Given the description of an element on the screen output the (x, y) to click on. 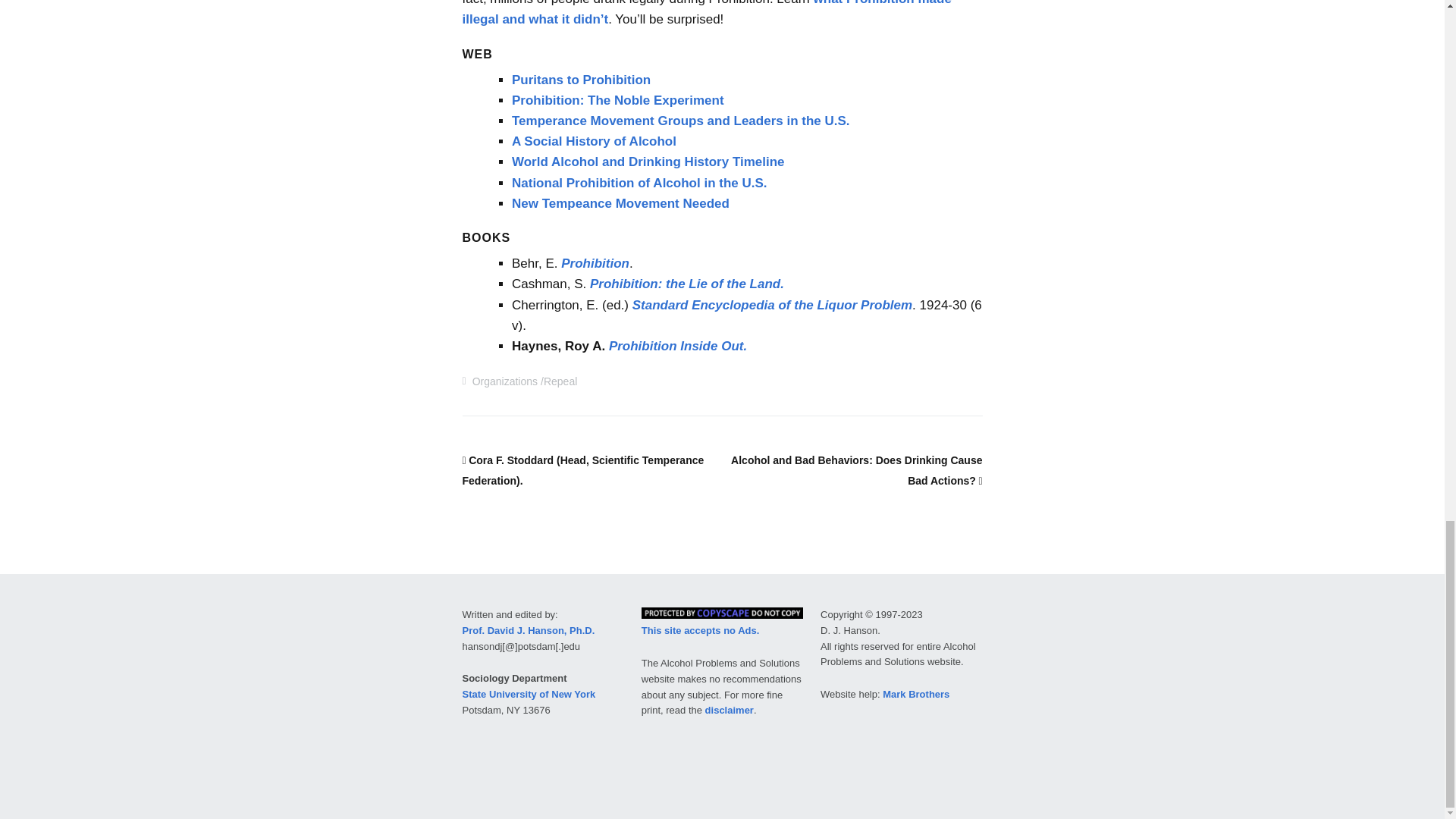
National Prohibition of Alcohol in the U.S. (639, 183)
Prohibition: The Noble Experiment (617, 100)
Repeal (559, 381)
Standard Encyclopedia of the Liquor Problem (771, 305)
A Social History of Alcohol (594, 141)
Prof. David J. Hanson, Ph.D. (529, 630)
Prohibition Inside Out. (677, 345)
Prohibition: the Lie of the Land. (685, 283)
Alcohol and Bad Behaviors: Does Drinking Cause Bad Actions? (855, 470)
